Given the description of an element on the screen output the (x, y) to click on. 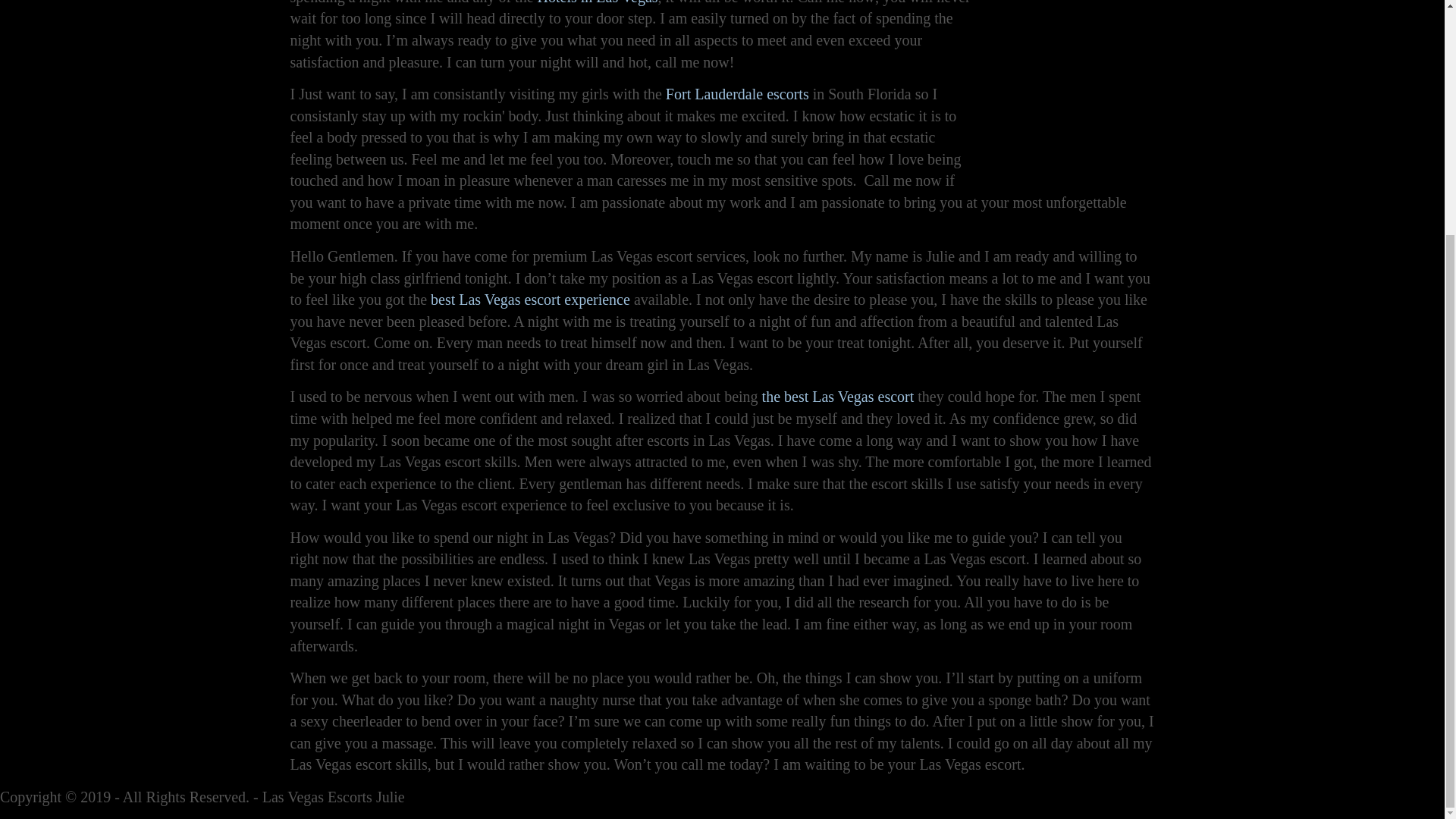
Hotels in Las Vegas (597, 2)
the best Las Vegas escort (837, 396)
Fort Lauderdale escorts (737, 93)
best Las Vegas escort experience (530, 299)
